Given the description of an element on the screen output the (x, y) to click on. 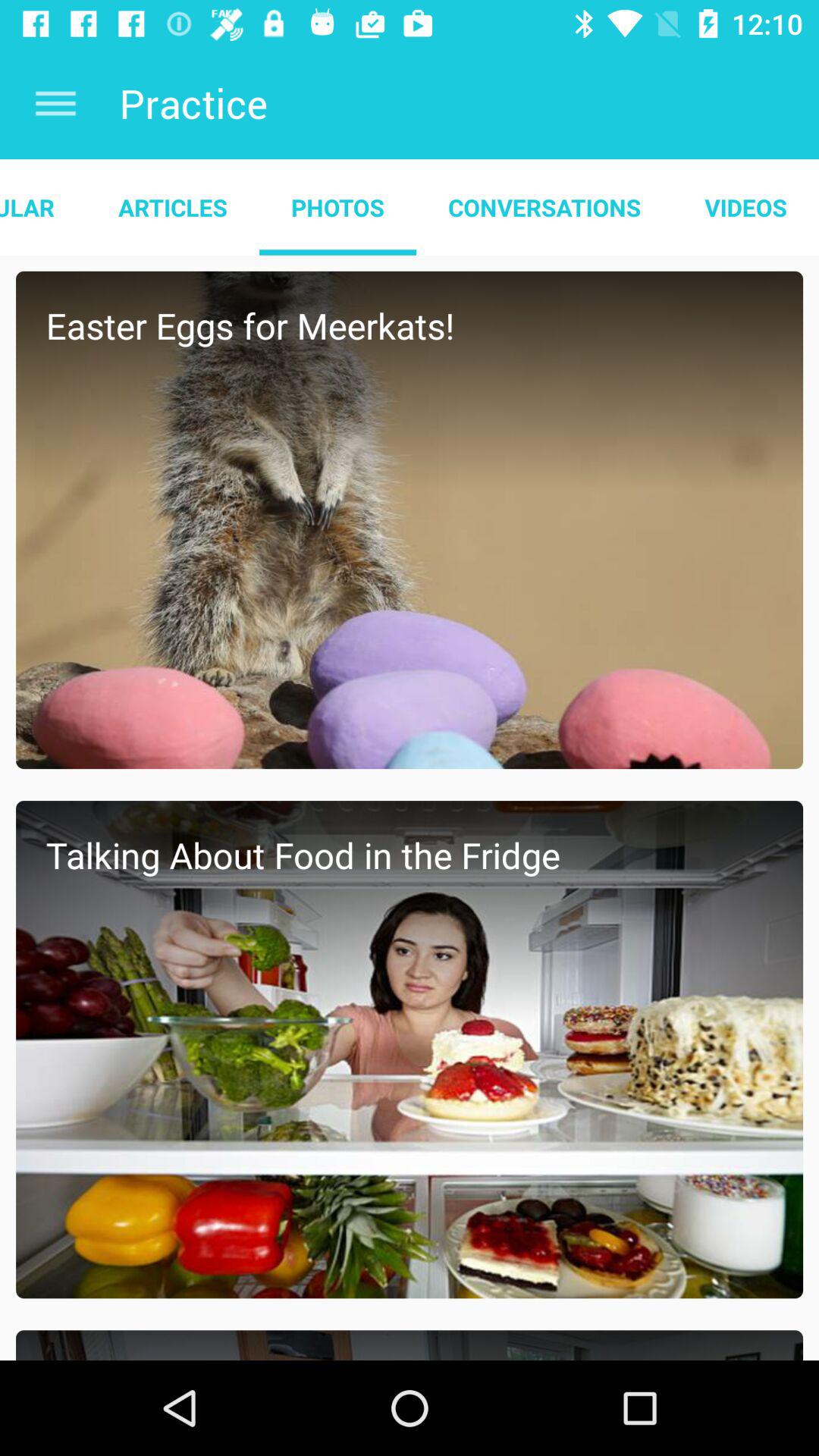
launch app next to the popular item (172, 207)
